Given the description of an element on the screen output the (x, y) to click on. 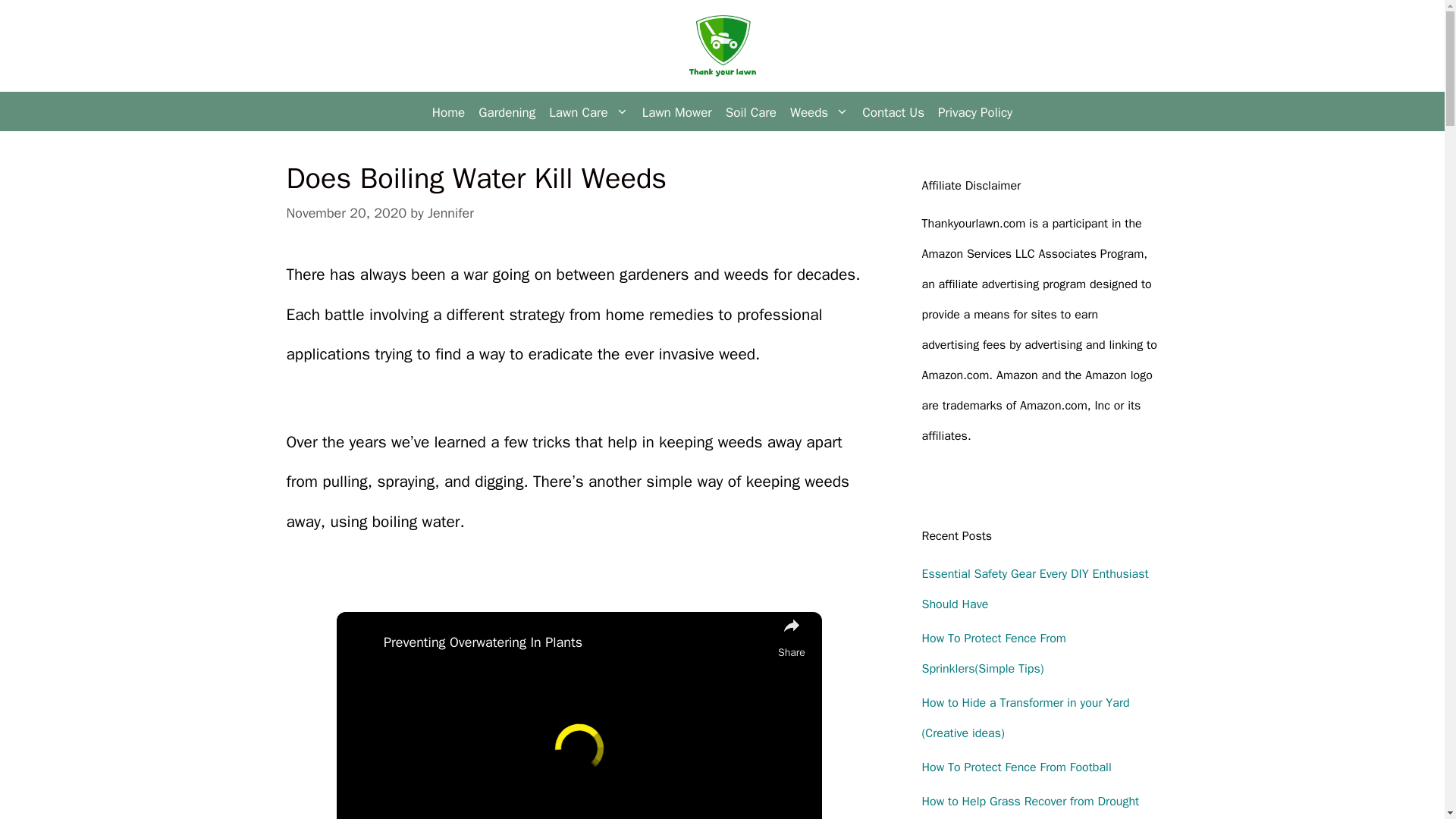
Jennifer (451, 212)
How to Help Grass Recover from Drought (1030, 801)
How To Protect Fence From Football (1016, 767)
Preventing Overwatering In Plants (577, 642)
Lawn Mower (676, 112)
Home (448, 112)
Privacy Policy (975, 112)
Soil Care (751, 112)
Gardening (506, 112)
View all posts by Jennifer (451, 212)
Essential Safety Gear Every DIY Enthusiast Should Have (1034, 588)
Weeds (819, 112)
Contact Us (893, 112)
Lawn Care (587, 112)
